Given the description of an element on the screen output the (x, y) to click on. 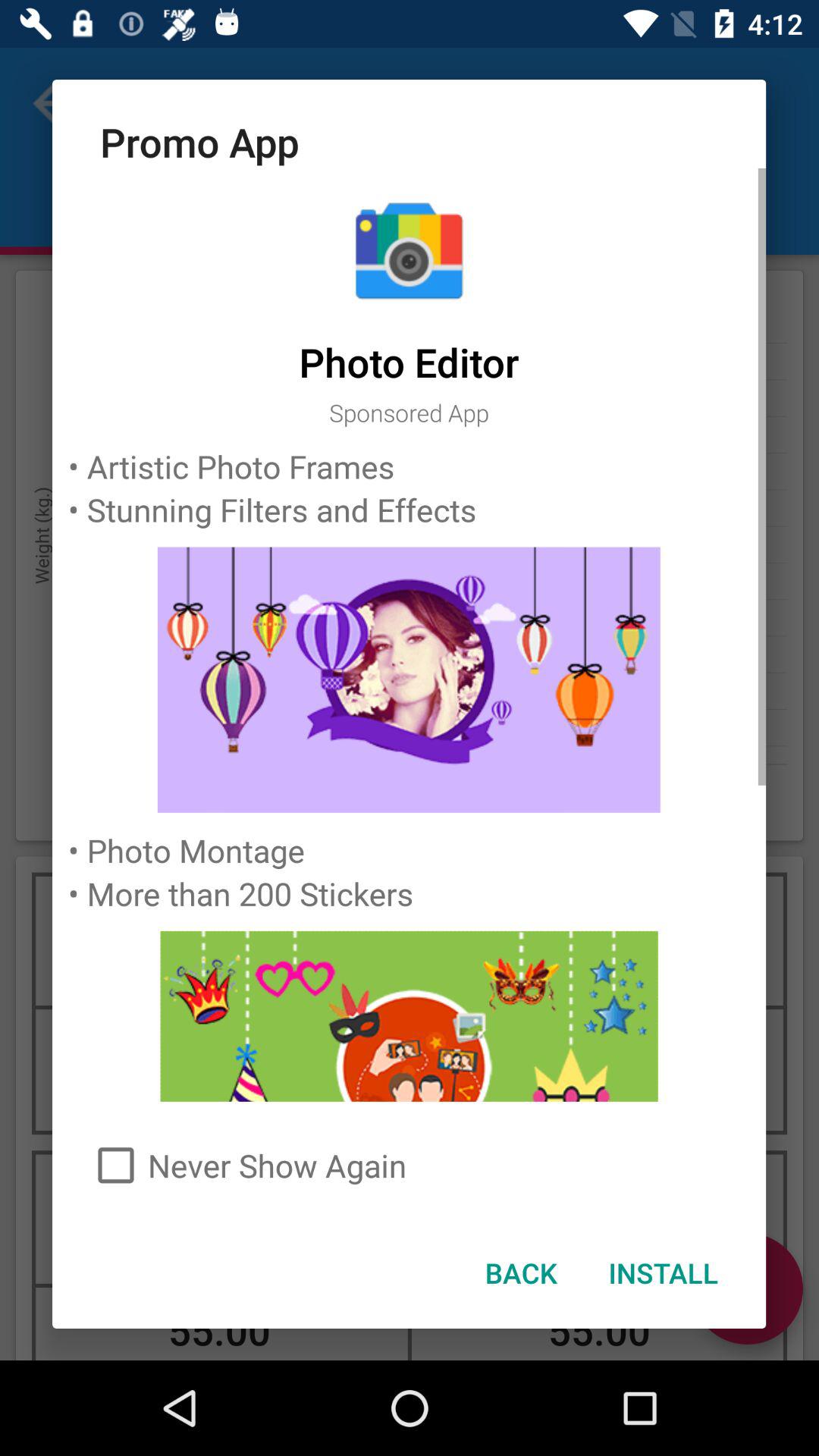
click item next to the back icon (663, 1272)
